Given the description of an element on the screen output the (x, y) to click on. 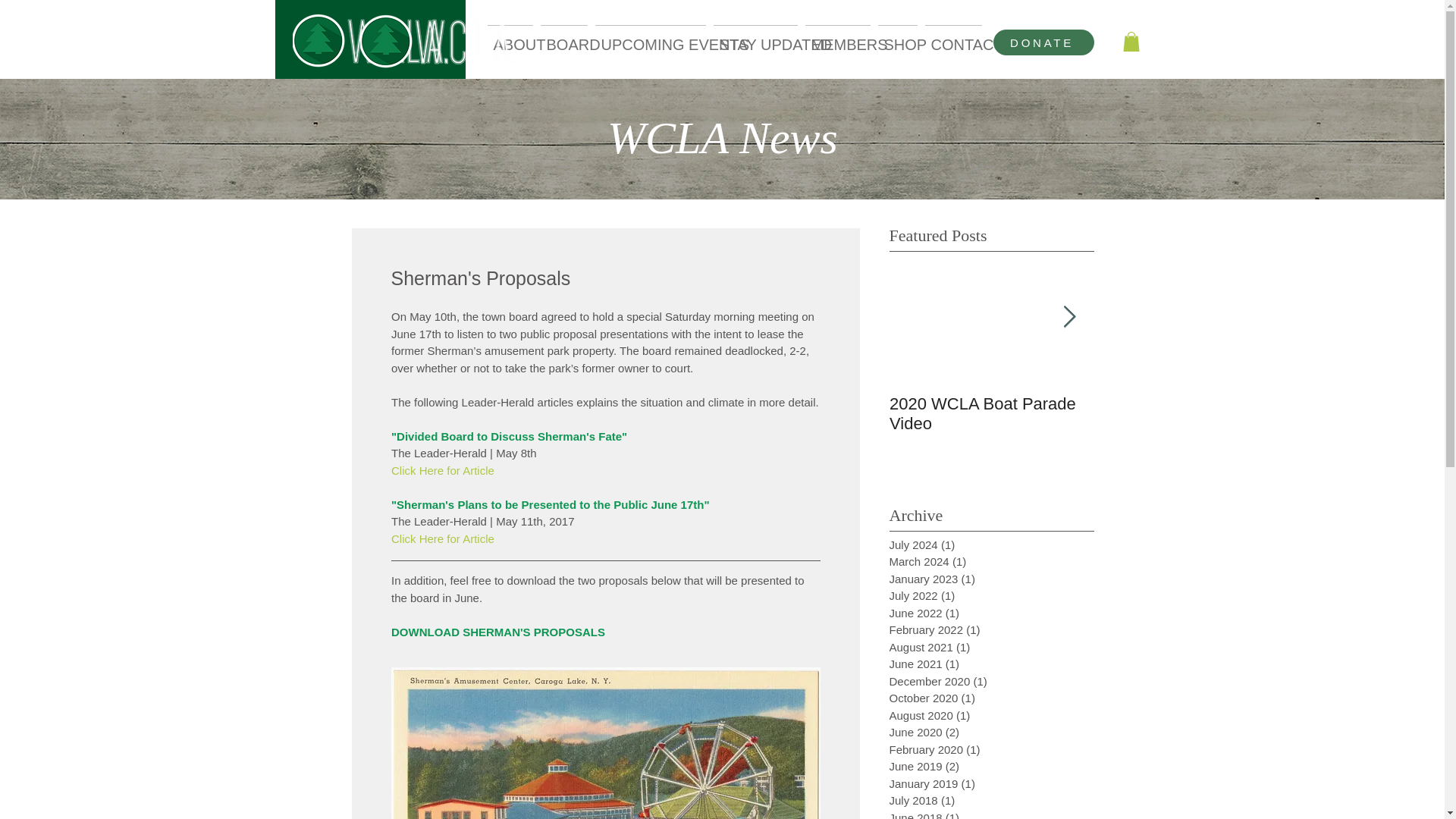
Click Here for Article (443, 470)
Logo-02.png (376, 41)
Logo-02.png (443, 41)
DONATE (1043, 42)
DOWNLOAD SHERMAN'S PROPOSALS (498, 631)
SHOP (896, 37)
UPCOMING EVENTS (650, 37)
Click Here for Article (443, 538)
ABOUT (510, 37)
CONTACT (952, 37)
2020 WCLA Boat Parade Video (990, 413)
